Given the description of an element on the screen output the (x, y) to click on. 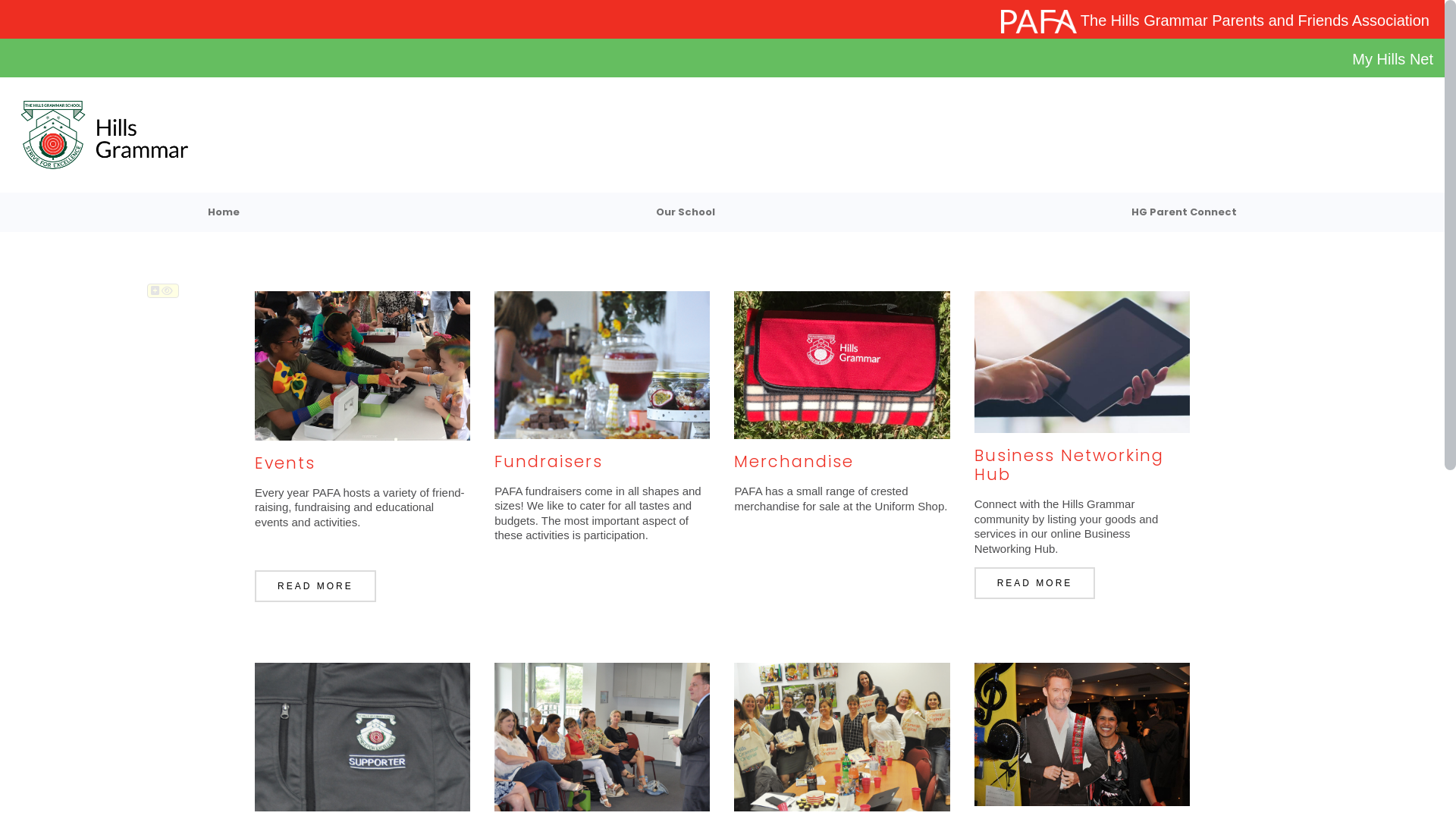
Create new module Element type: hover (154, 289)
READ MORE Element type: text (1034, 583)
READ MORE Element type: text (315, 586)
HG Parent Connect Element type: text (1183, 212)
Our School Element type: text (685, 212)
View public modules as well Element type: hover (166, 289)
Home Element type: text (224, 212)
